Given the description of an element on the screen output the (x, y) to click on. 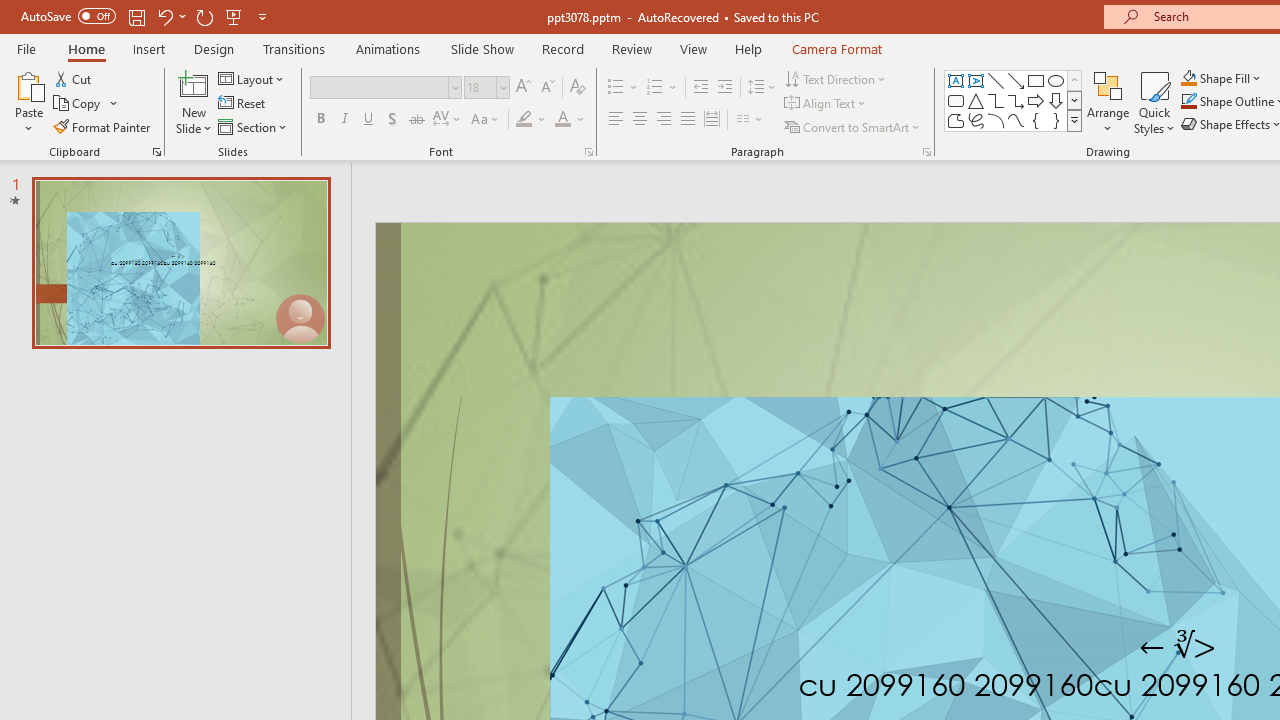
Shape Fill Dark Green, Accent 2 (1188, 78)
